Given the description of an element on the screen output the (x, y) to click on. 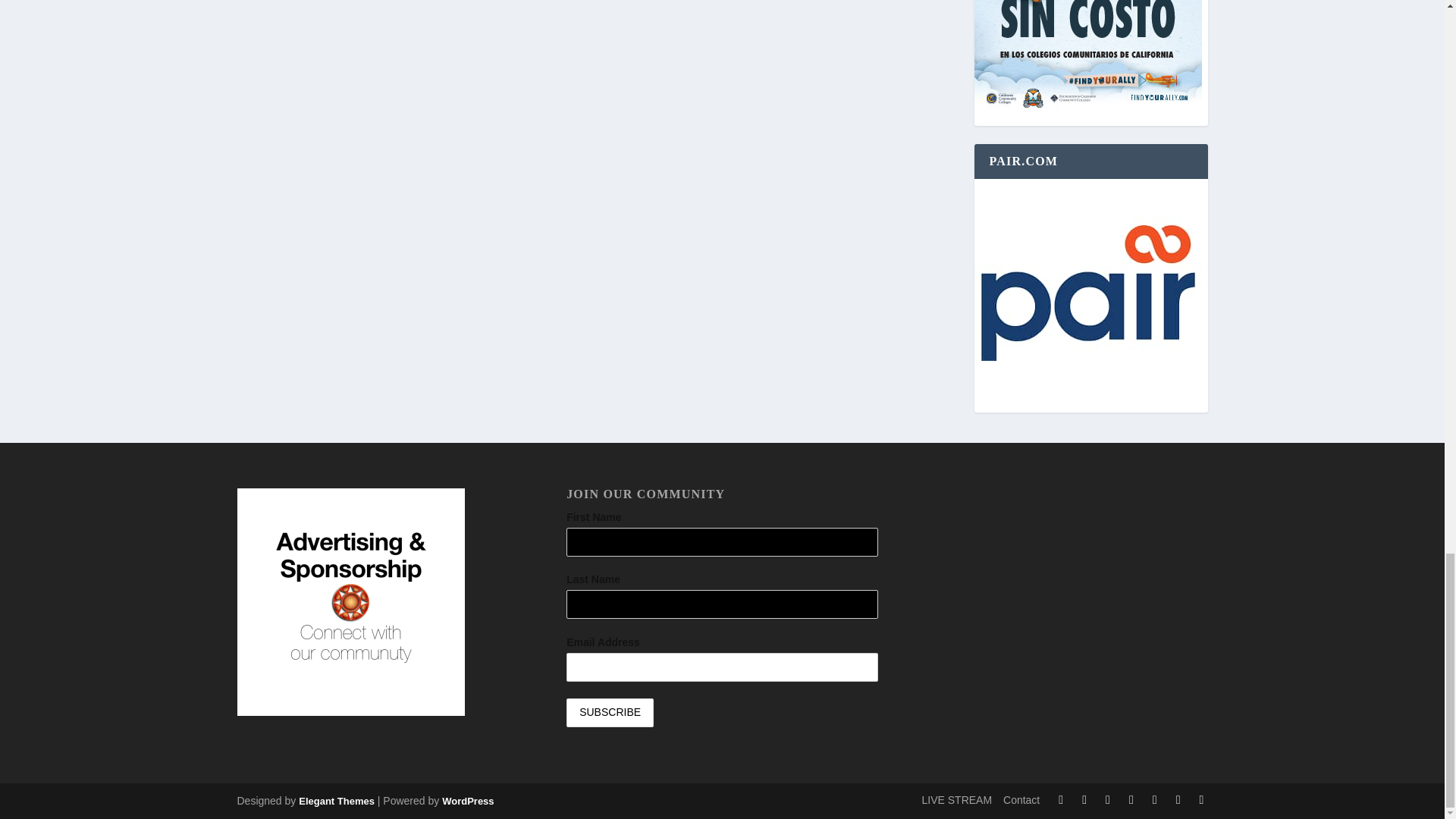
Subscribe (609, 712)
